Given the description of an element on the screen output the (x, y) to click on. 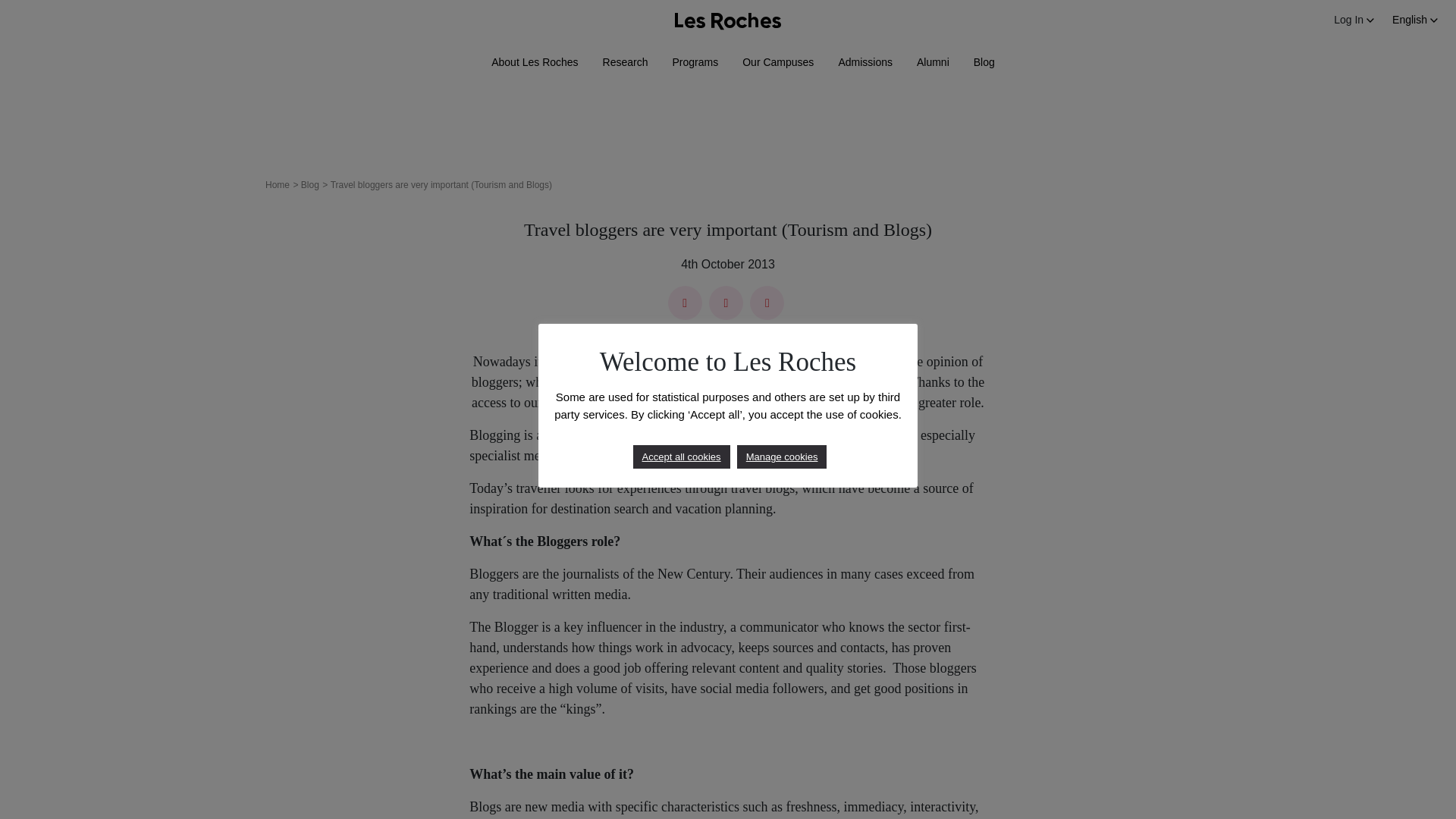
About Les Roches (535, 62)
English (1414, 19)
Log In (1353, 19)
About Les Roches (535, 62)
